Given the description of an element on the screen output the (x, y) to click on. 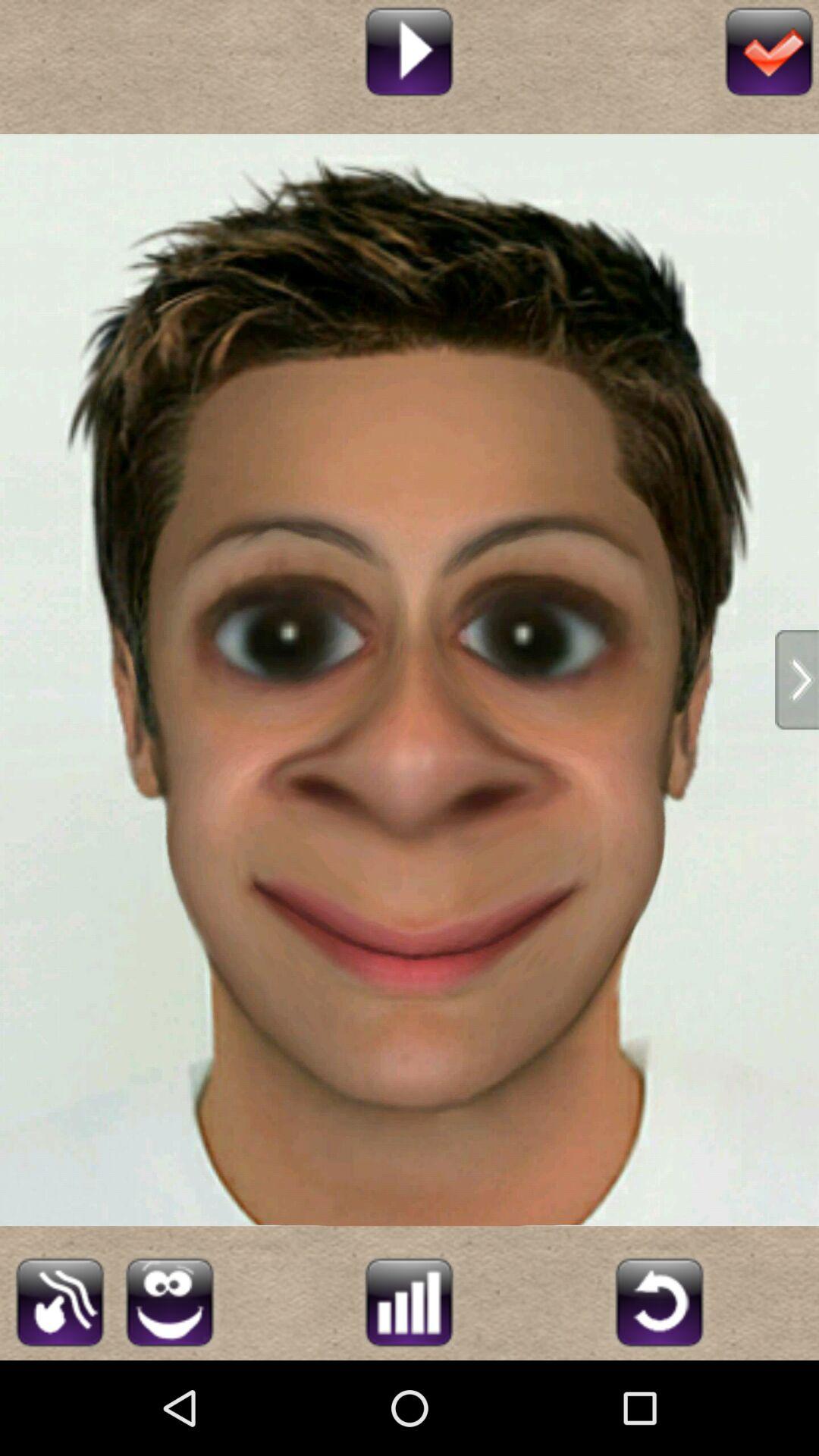
change shape (59, 1300)
